Given the description of an element on the screen output the (x, y) to click on. 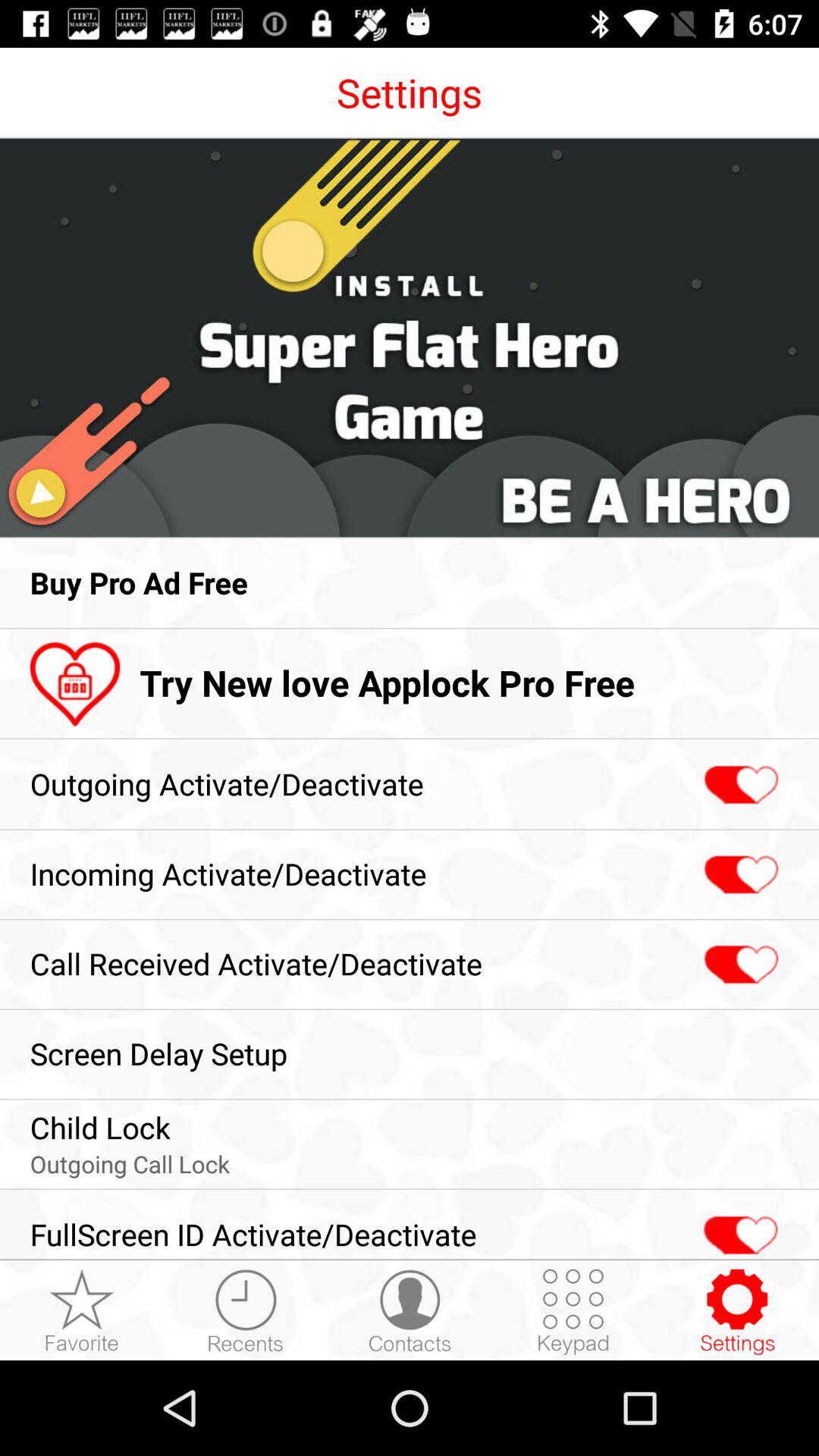
view contacts (409, 1311)
